Given the description of an element on the screen output the (x, y) to click on. 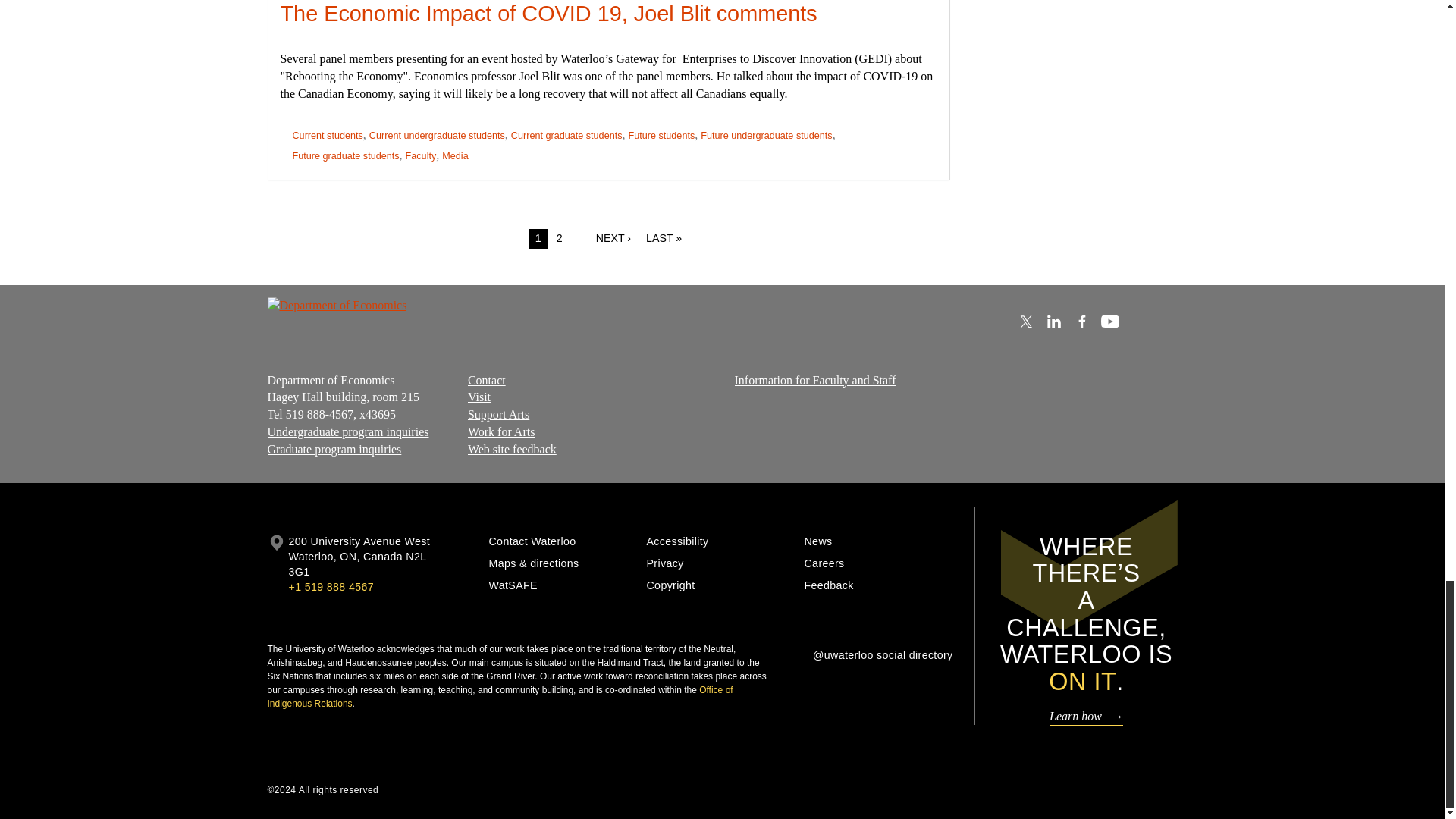
Go to last page (663, 238)
Go to page 2 (559, 238)
Go to next page (613, 238)
